Given the description of an element on the screen output the (x, y) to click on. 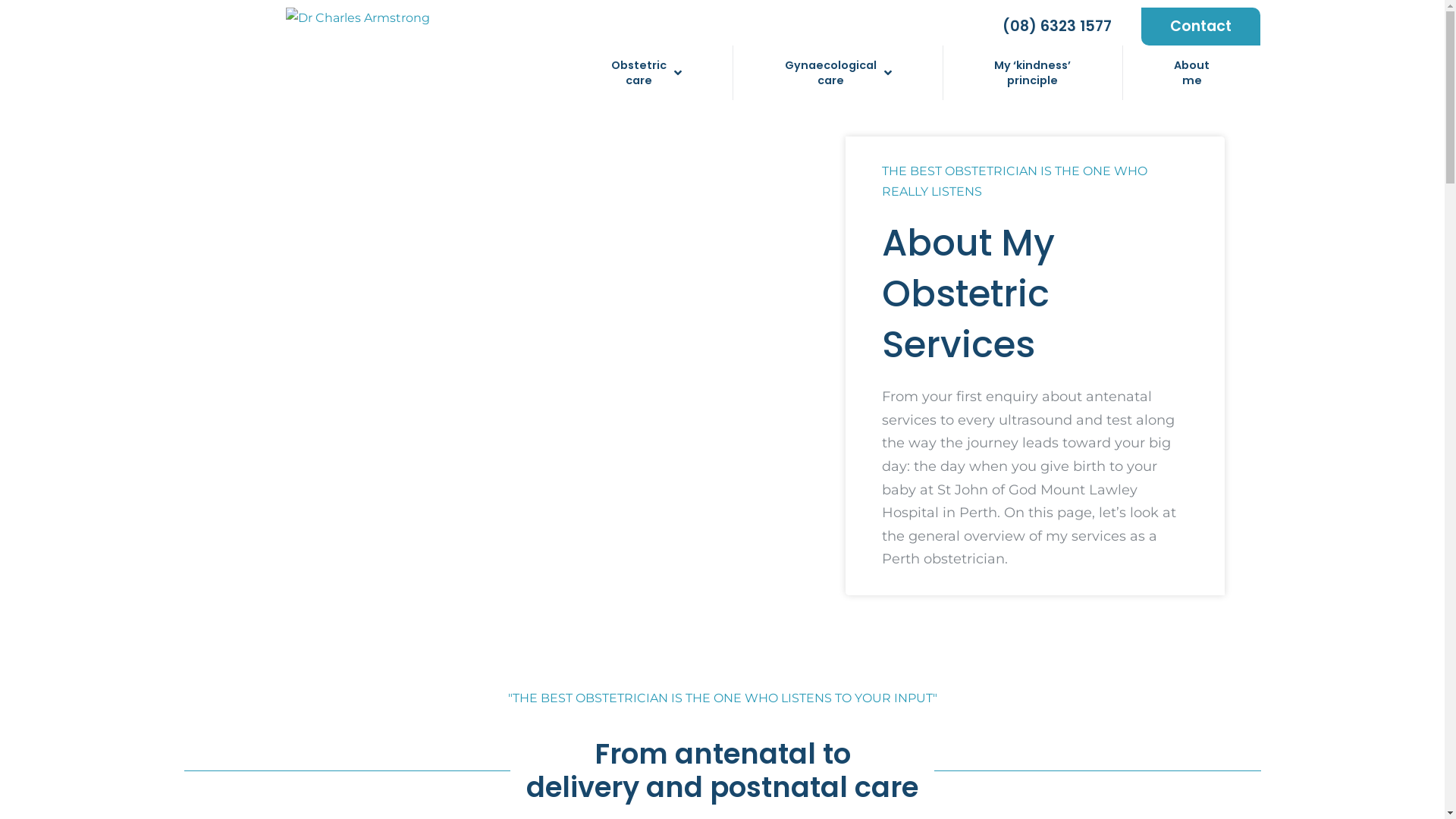
About
me Element type: text (1192, 72)
Contact Element type: text (1201, 26)
Gynaecological
care Element type: text (838, 72)
Obstetric
care Element type: text (646, 72)
(08) 6323 1577 Element type: text (1057, 26)
